Given the description of an element on the screen output the (x, y) to click on. 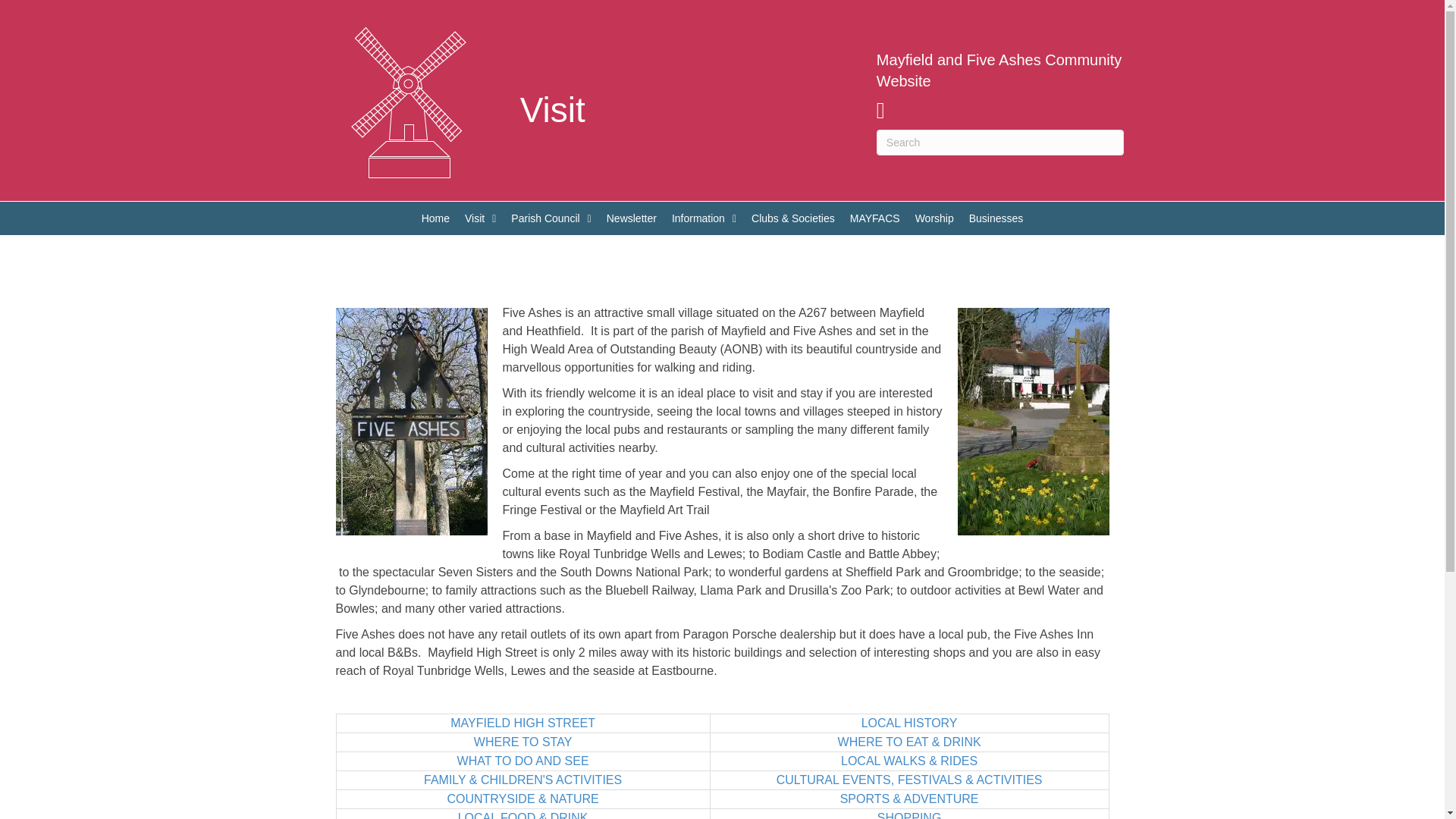
Parish Council (550, 218)
Type and press Enter to search. (1000, 142)
Home (435, 218)
Visit (480, 218)
Mayfield and Five Ashes Community Website (998, 70)
Mayfield and Five Ashes Community Website (998, 70)
